Given the description of an element on the screen output the (x, y) to click on. 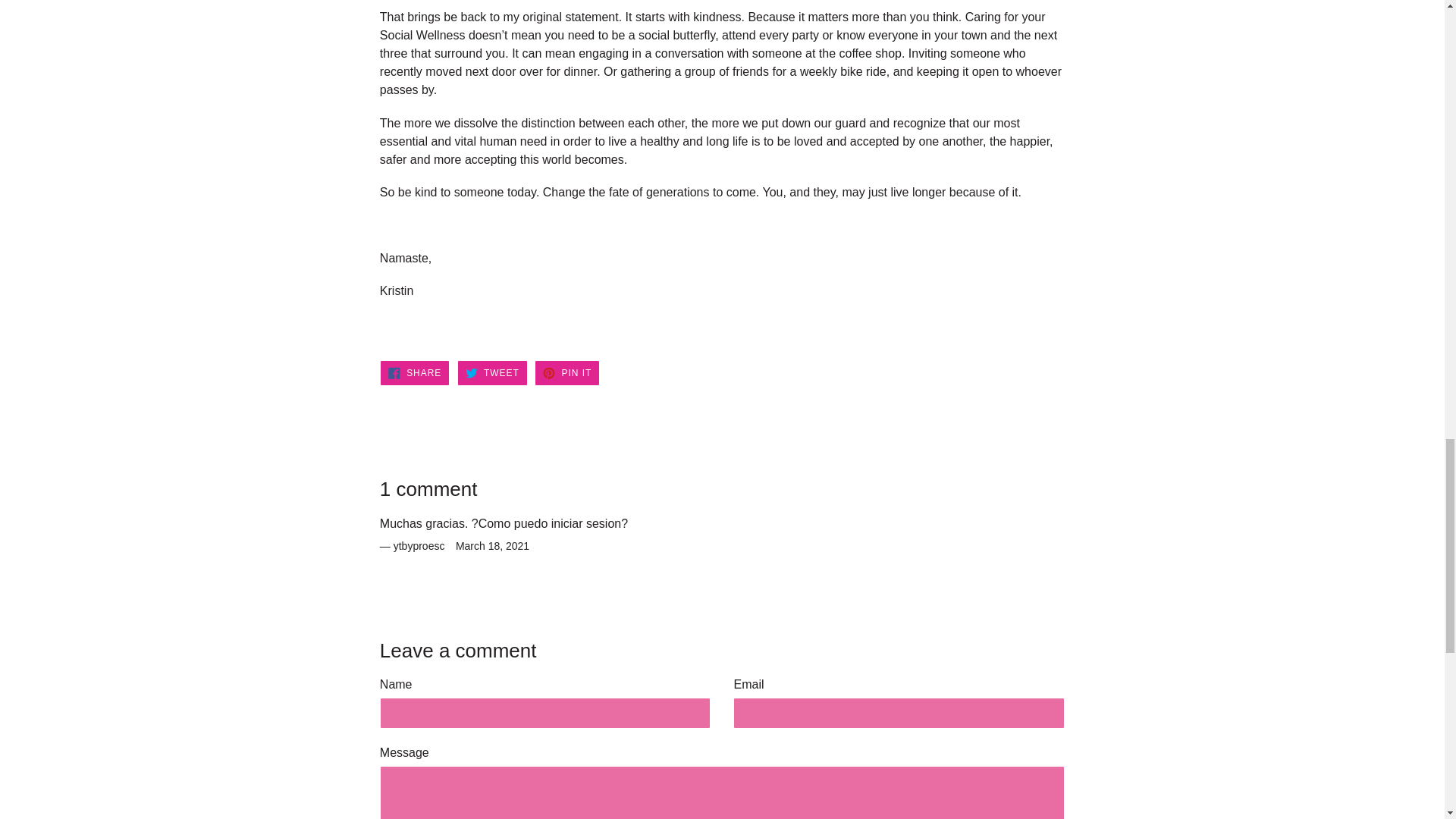
Tweet on Twitter (492, 372)
Pin on Pinterest (566, 372)
Share on Facebook (566, 372)
